Given the description of an element on the screen output the (x, y) to click on. 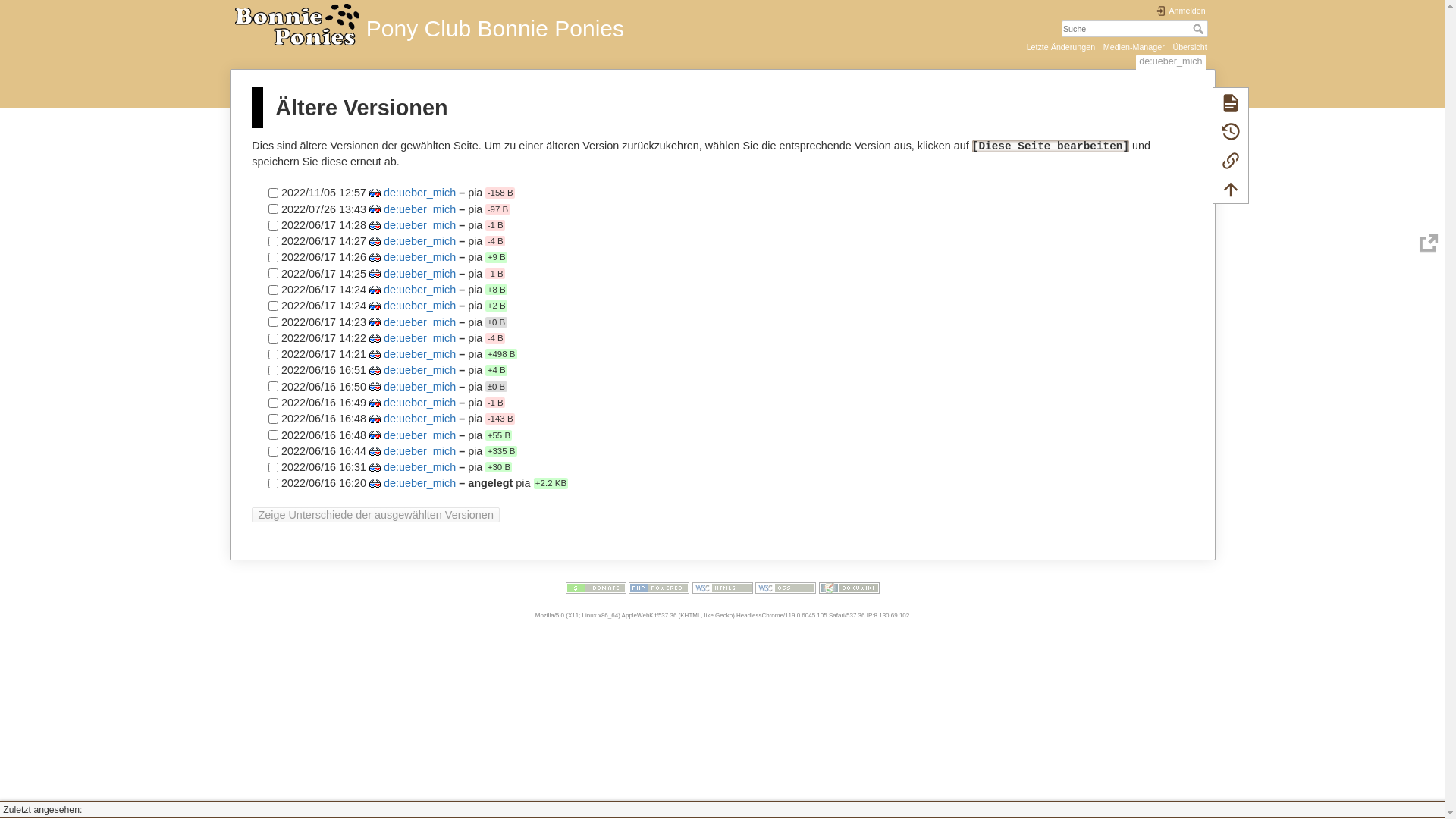
Zeige Unterschiede zu aktueller Version Element type: hover (374, 289)
de:ueber_mich Element type: text (419, 483)
Zeige Unterschiede zu aktueller Version Element type: hover (374, 434)
Pony Club Bonnie Ponies Element type: text (476, 22)
Zeige Unterschiede zu aktueller Version Element type: hover (374, 257)
de:ueber_mich Element type: text (419, 241)
Valid HTML5 Element type: hover (721, 587)
Medien-Manager Element type: text (1133, 46)
Zeige Unterschiede zu aktueller Version Element type: hover (374, 370)
Zeige Unterschiede zu aktueller Version Element type: hover (374, 402)
de:ueber_mich Element type: text (419, 370)
de:ueber_mich Element type: text (419, 467)
Zeige Unterschiede zu aktueller Version Element type: hover (374, 451)
Zeige Unterschiede zu aktueller Version Element type: hover (374, 225)
Zeige Unterschiede zu aktueller Version Element type: hover (374, 418)
de:ueber_mich Element type: text (419, 338)
Zeige Unterschiede zu aktueller Version Element type: hover (374, 467)
de:ueber_mich Element type: text (419, 192)
Valid CSS Element type: hover (785, 587)
Zeige Unterschiede zu aktueller Version Element type: hover (374, 321)
de:ueber_mich Element type: text (419, 257)
Driven by DokuWiki Element type: hover (849, 587)
Zeige Unterschiede zu aktueller Version Element type: hover (374, 483)
Links hierher Element type: hover (1230, 159)
de:ueber_mich Element type: text (419, 435)
Donate Element type: hover (595, 587)
Seite anzeigen [v] Element type: hover (1230, 101)
Zeige Unterschiede zu aktueller Version Element type: hover (374, 208)
de:ueber_mich Element type: text (419, 289)
Zeige Unterschiede zu aktueller Version Element type: hover (374, 192)
Zeige Unterschiede zu aktueller Version Element type: hover (374, 386)
de:ueber_mich Element type: text (419, 209)
Zeige Unterschiede zu aktueller Version Element type: hover (374, 305)
de:ueber_mich Element type: text (419, 322)
de:ueber_mich Element type: text (419, 451)
Zeige Unterschiede zu aktueller Version Element type: hover (374, 241)
de:ueber_mich Element type: text (419, 305)
Zeige Unterschiede zu aktueller Version Element type: hover (374, 273)
de:ueber_mich Element type: text (419, 273)
Powered by PHP Element type: hover (658, 587)
de:ueber_mich Element type: text (419, 418)
Anmelden Element type: text (1180, 10)
Suche Element type: text (1199, 28)
de:ueber_mich Element type: text (419, 225)
de:ueber_mich Element type: text (419, 386)
de:ueber_mich Element type: text (419, 402)
de:ueber_mich Element type: text (419, 354)
Zeige Unterschiede zu aktueller Version Element type: hover (374, 338)
[F] Element type: hover (1134, 28)
Nach oben [t] Element type: hover (1230, 188)
Zeige Unterschiede zu aktueller Version Element type: hover (374, 354)
